Given the description of an element on the screen output the (x, y) to click on. 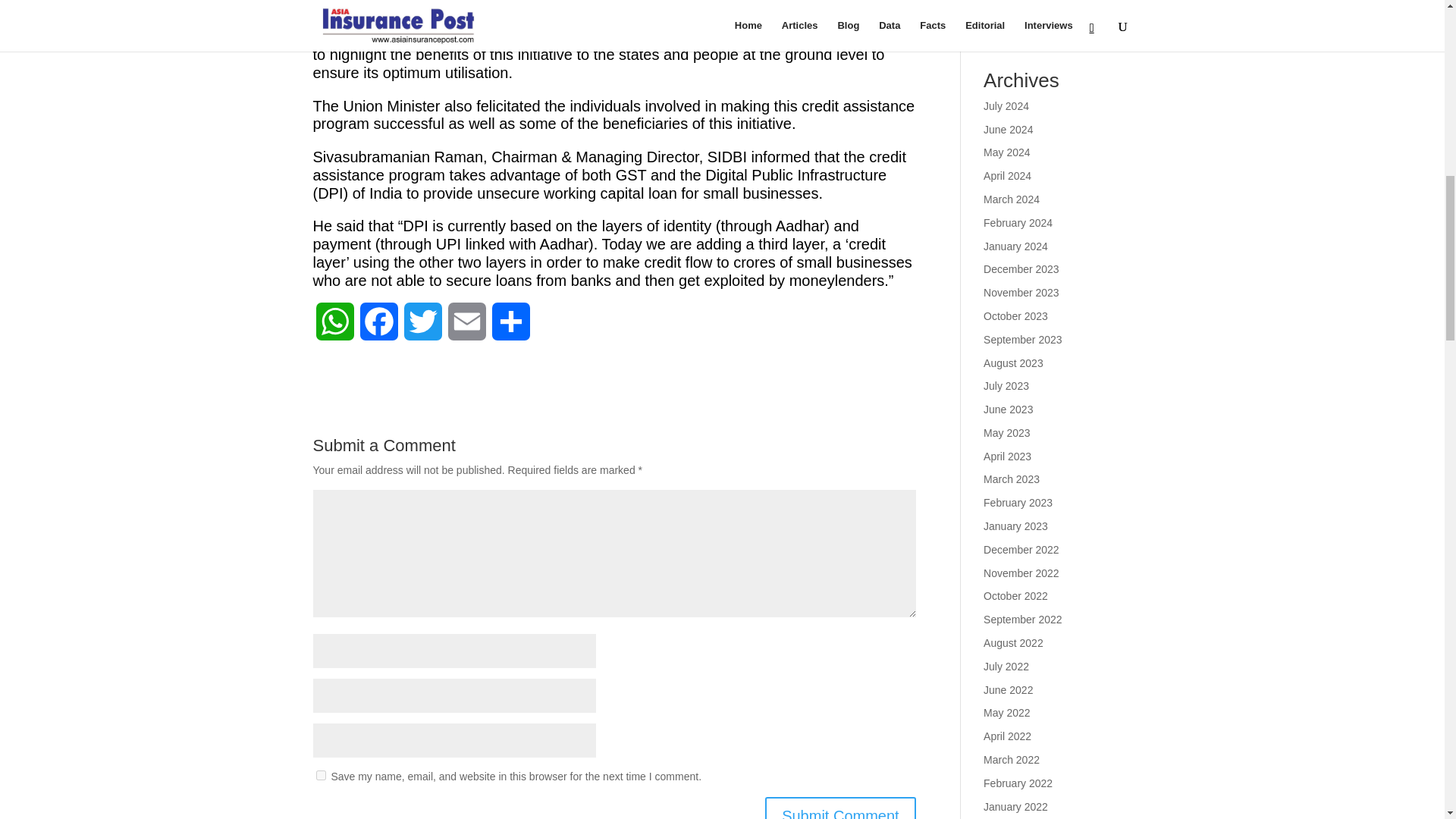
Submit Comment (840, 807)
yes (319, 775)
Submit Comment (840, 807)
